Given the description of an element on the screen output the (x, y) to click on. 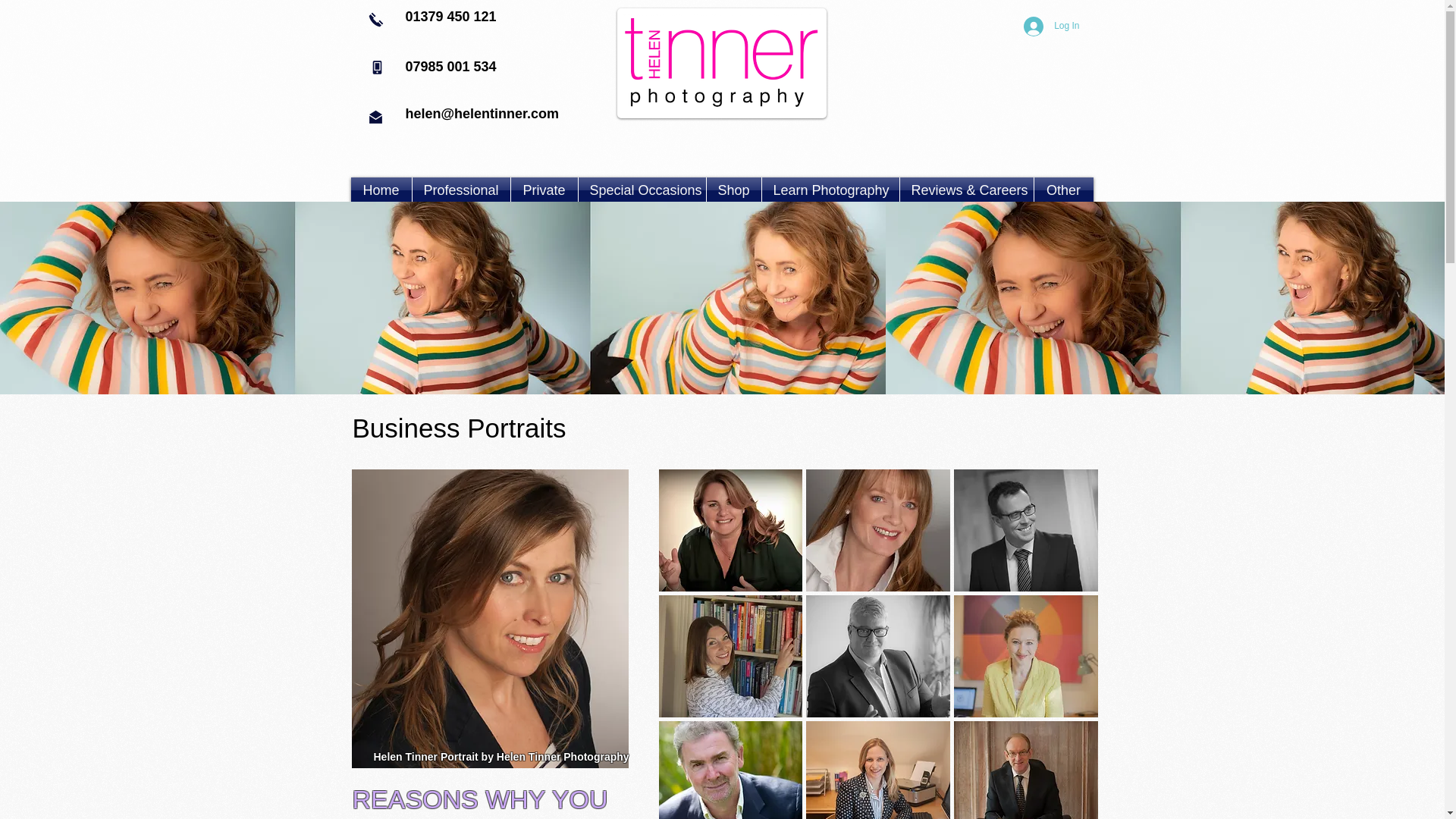
Learn Photography (829, 190)
01379 450 121 (450, 16)
Log In (1051, 26)
07985 001 534 (450, 66)
Special Occasions (641, 190)
Shop (733, 190)
Private (544, 190)
Professional (461, 190)
Home (380, 190)
